Given the description of an element on the screen output the (x, y) to click on. 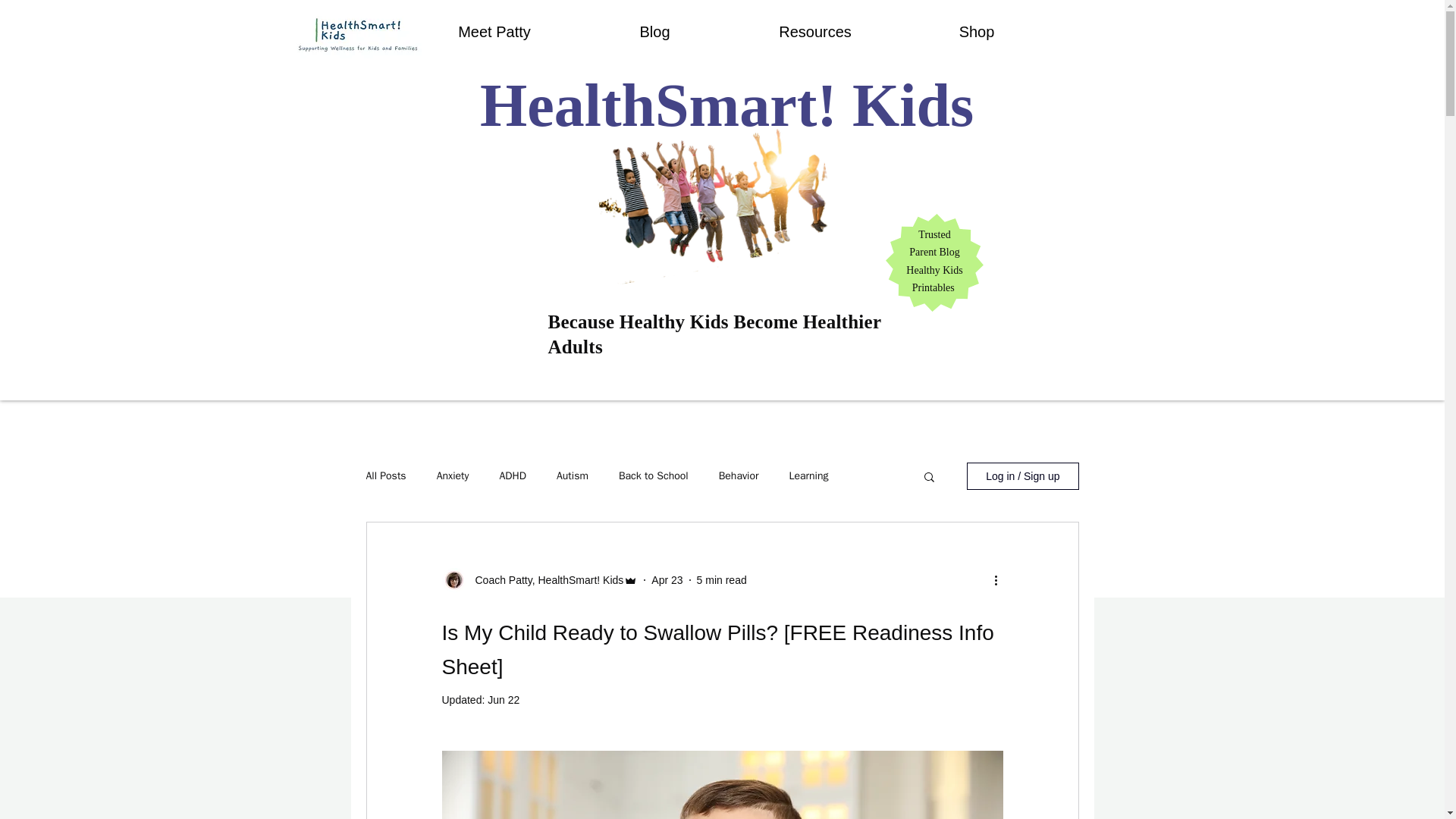
Back to School (653, 476)
Coach Patty, HealthSmart! Kids (544, 579)
Shop (976, 32)
Resources (814, 32)
5 min read (721, 579)
Behavior (738, 476)
All Posts (385, 476)
Jun 22 (503, 699)
Apr 23 (666, 579)
Anxiety (452, 476)
Autism (572, 476)
ADHD (512, 476)
Blog (654, 32)
Meet Patty (494, 32)
Learning (808, 476)
